Given the description of an element on the screen output the (x, y) to click on. 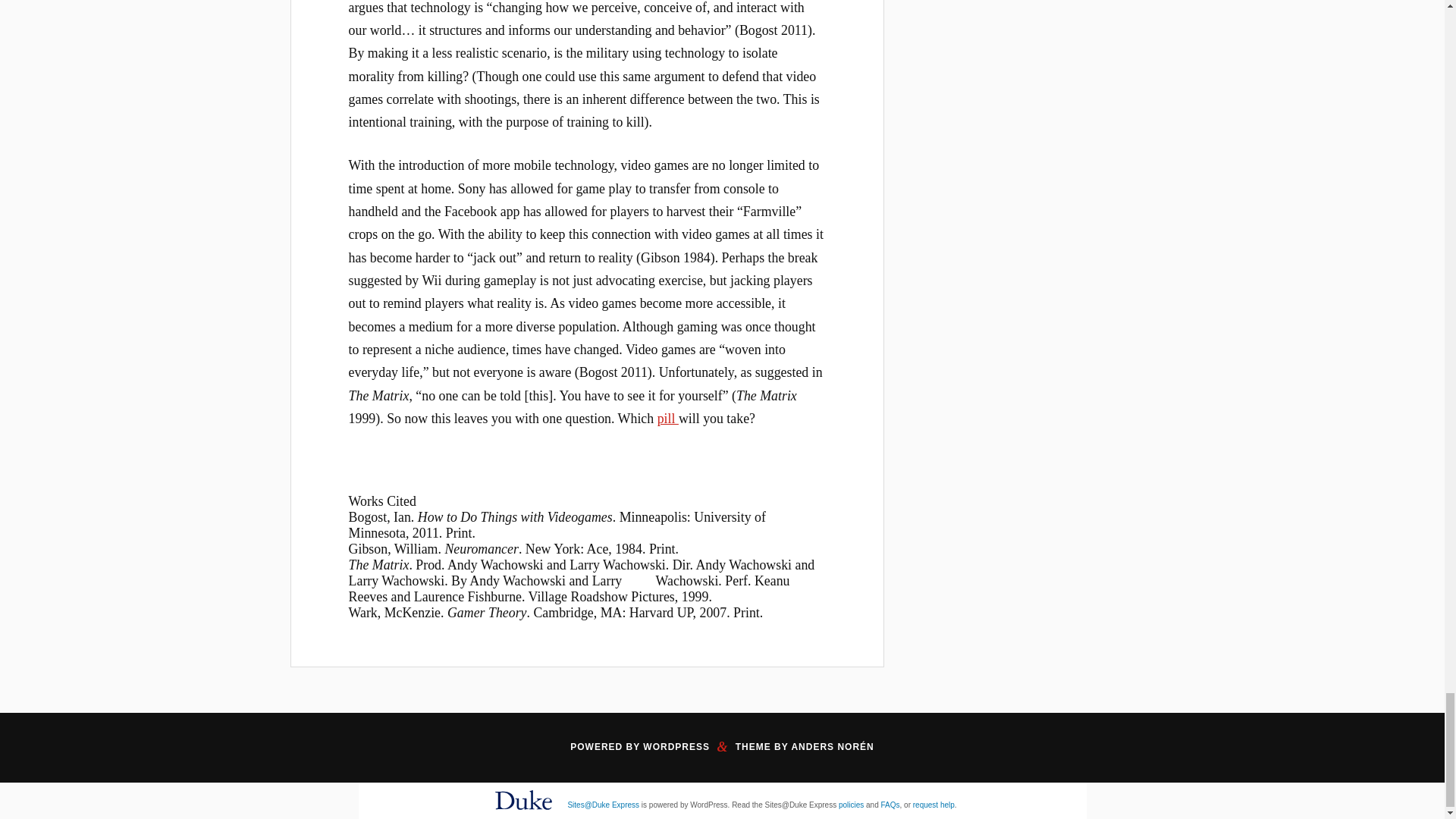
pill (668, 418)
Visit Duke.edu (523, 812)
